Given the description of an element on the screen output the (x, y) to click on. 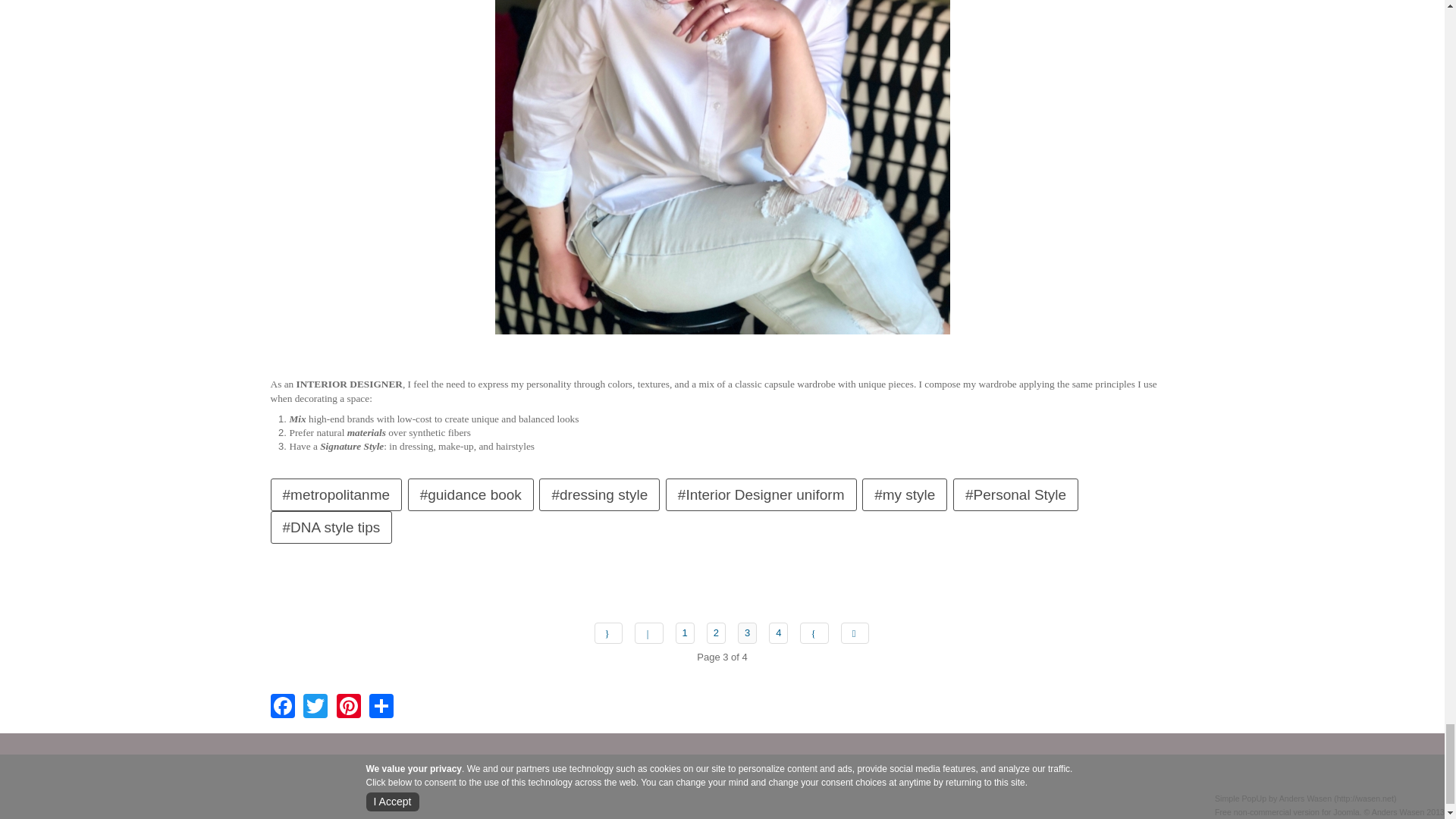
Prev (648, 632)
1 (684, 632)
Start (608, 632)
2 (715, 632)
Dress for Success - The Wardrobe of an Interior Designer (722, 30)
End (855, 632)
Next (813, 632)
4 (777, 632)
